Given the description of an element on the screen output the (x, y) to click on. 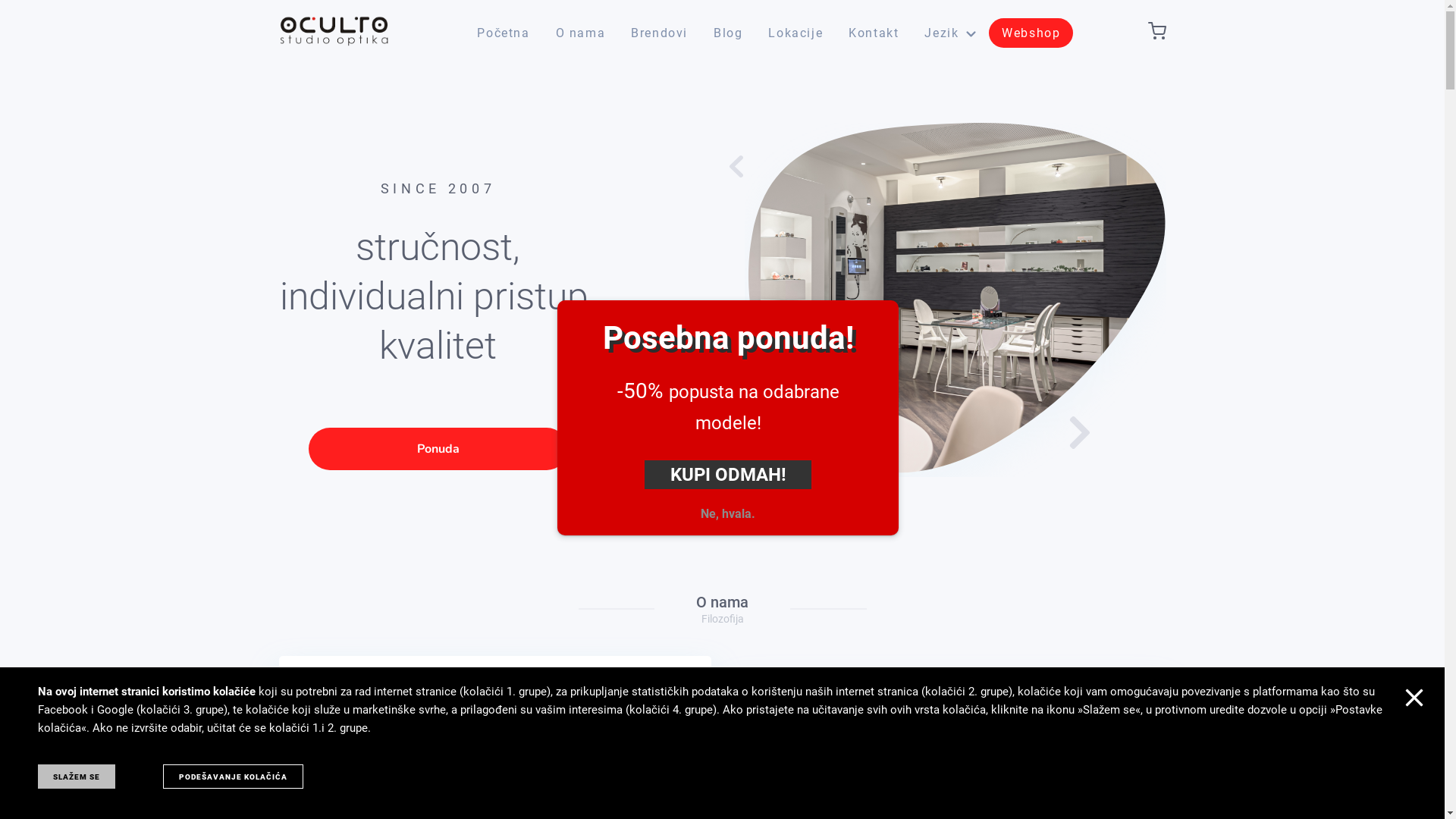
Arrow Rigfht Slider Element type: hover (1073, 432)
Kontakt Element type: text (873, 32)
Blog Element type: text (727, 32)
Arrow Left Slider Element type: hover (740, 166)
KUPI ODMAH! Element type: text (727, 474)
Ne, hvala. Element type: text (727, 514)
Brendovi Element type: text (659, 32)
Author Image Element type: hover (824, 749)
Ponuda Element type: text (437, 448)
Jezik Element type: text (949, 32)
Lokacije Element type: text (795, 32)
Slider Small Element type: hover (768, 404)
Webshop Element type: text (1030, 32)
Slider Big Element type: hover (955, 299)
Author Image Element type: hover (369, 731)
O nama Element type: text (580, 32)
